Given the description of an element on the screen output the (x, y) to click on. 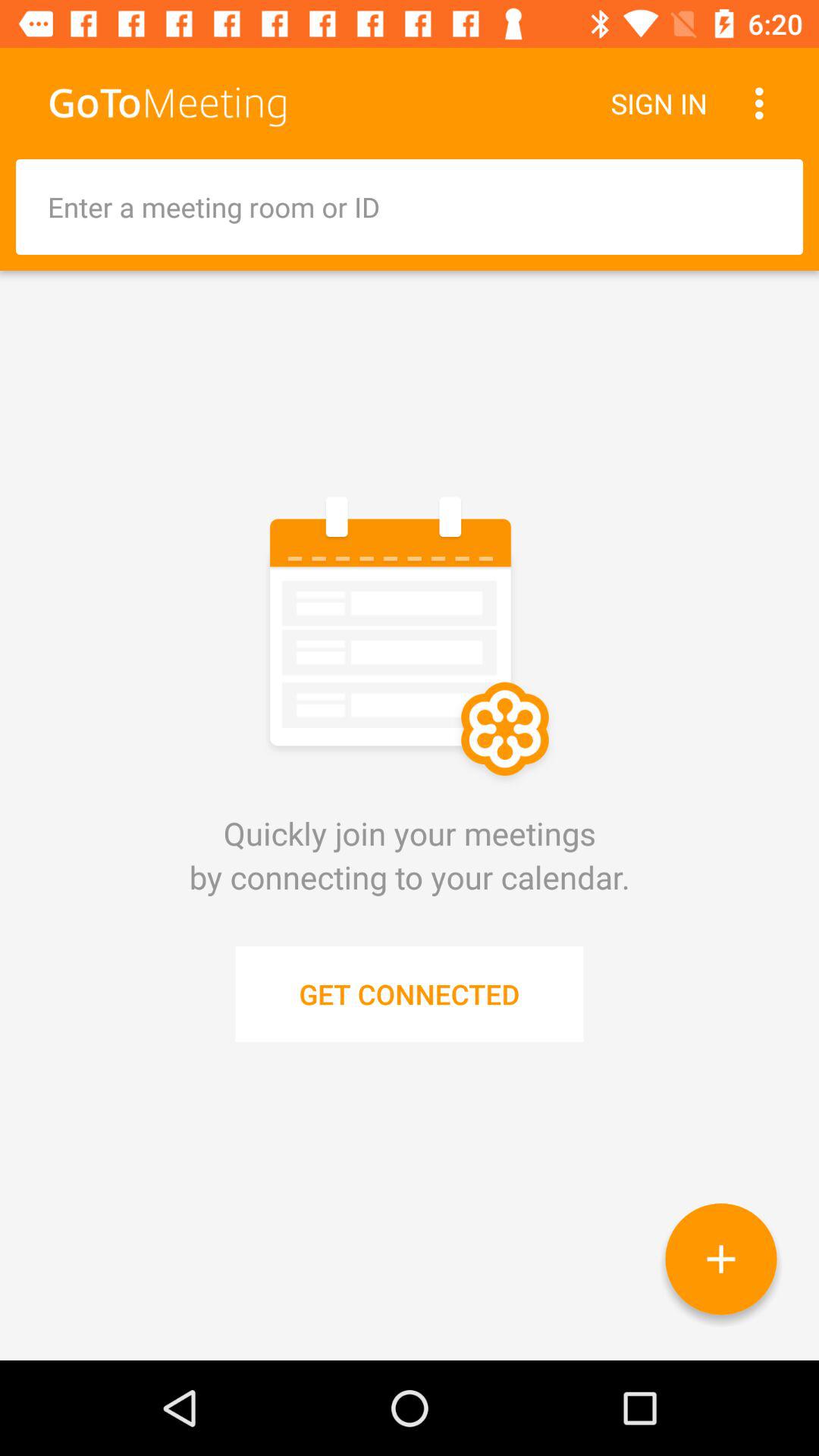
choose icon below the quickly join your (720, 1258)
